Given the description of an element on the screen output the (x, y) to click on. 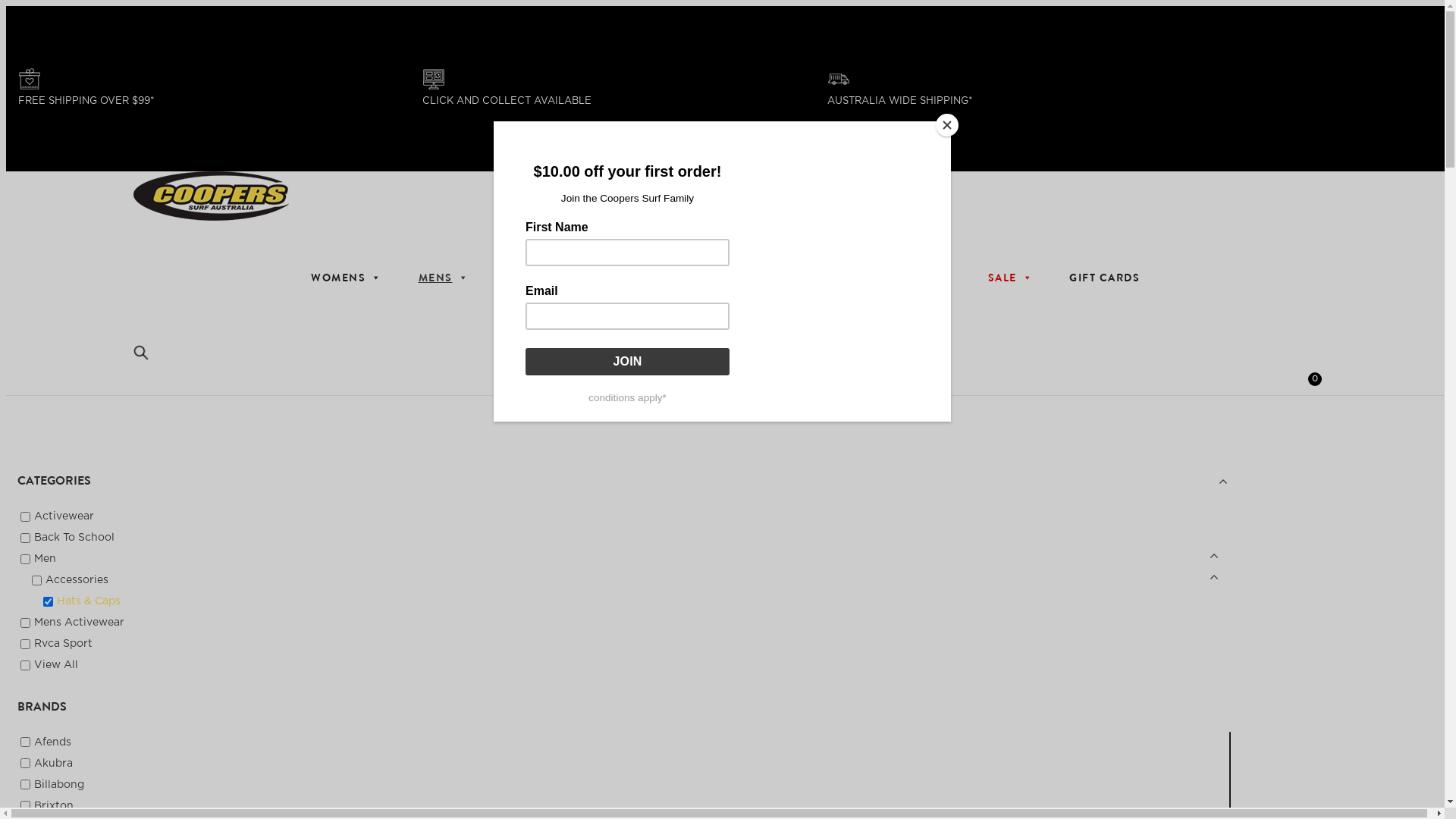
GIFT CARDS Element type: text (1104, 277)
Accessories Element type: text (76, 579)
COLLECTIONS Element type: text (900, 277)
Billabong Element type: text (59, 784)
View All Element type: text (56, 664)
Mens Activewear Element type: text (79, 622)
Men Element type: text (45, 558)
SURFBOARDS Element type: text (664, 277)
Activewear Element type: text (64, 516)
Back To School Element type: text (74, 537)
Brixton Element type: text (53, 805)
Coopers Surf Australia Element type: hover (728, 195)
WETSUITS Element type: text (542, 277)
BRANDS Element type: text (782, 277)
Rvca Sport Element type: text (63, 643)
Hats & Caps Element type: text (88, 600)
WOMENS Element type: text (346, 277)
MENS Element type: text (443, 277)
SALE Element type: text (1010, 277)
Search Element type: text (21, 7)
Afends Element type: text (52, 742)
Akubra Element type: text (53, 763)
